Given the description of an element on the screen output the (x, y) to click on. 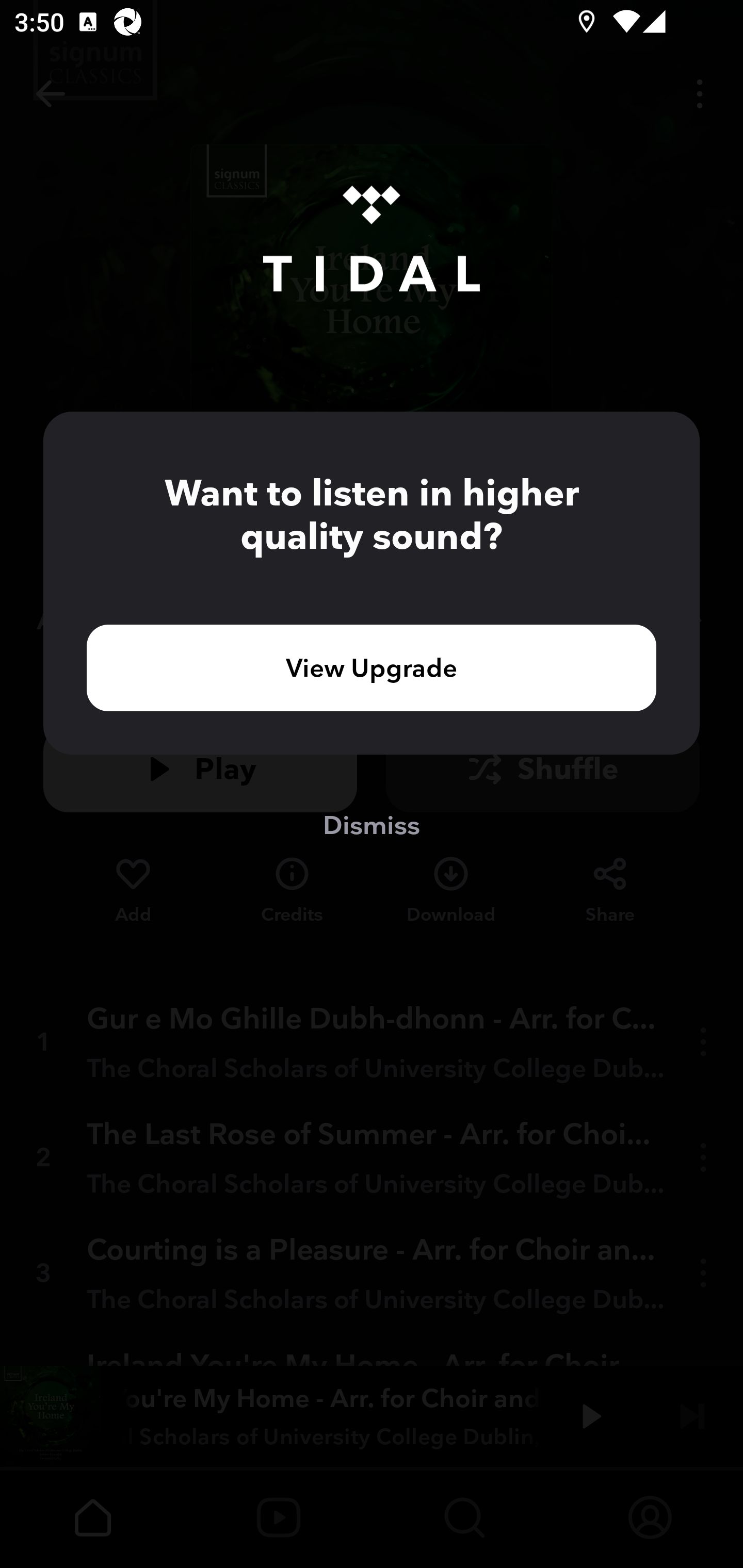
View Upgrade (371, 667)
Dismiss (371, 824)
